Given the description of an element on the screen output the (x, y) to click on. 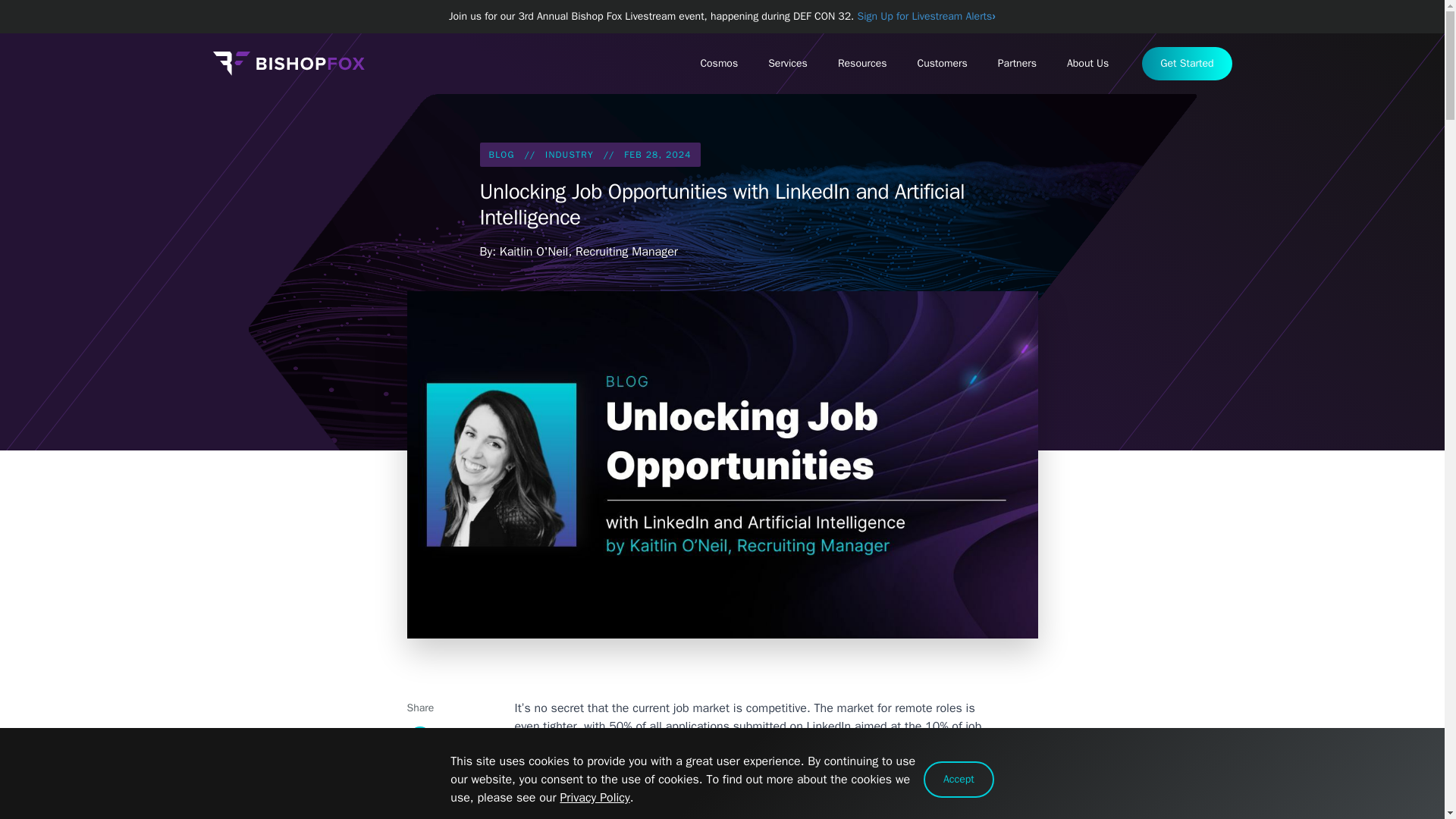
About Us (1087, 63)
Get Started (1186, 63)
Live Chat Button (1414, 788)
Customers (942, 63)
Resources (862, 63)
Services (787, 63)
Cosmos (718, 63)
Partners (1016, 63)
